Given the description of an element on the screen output the (x, y) to click on. 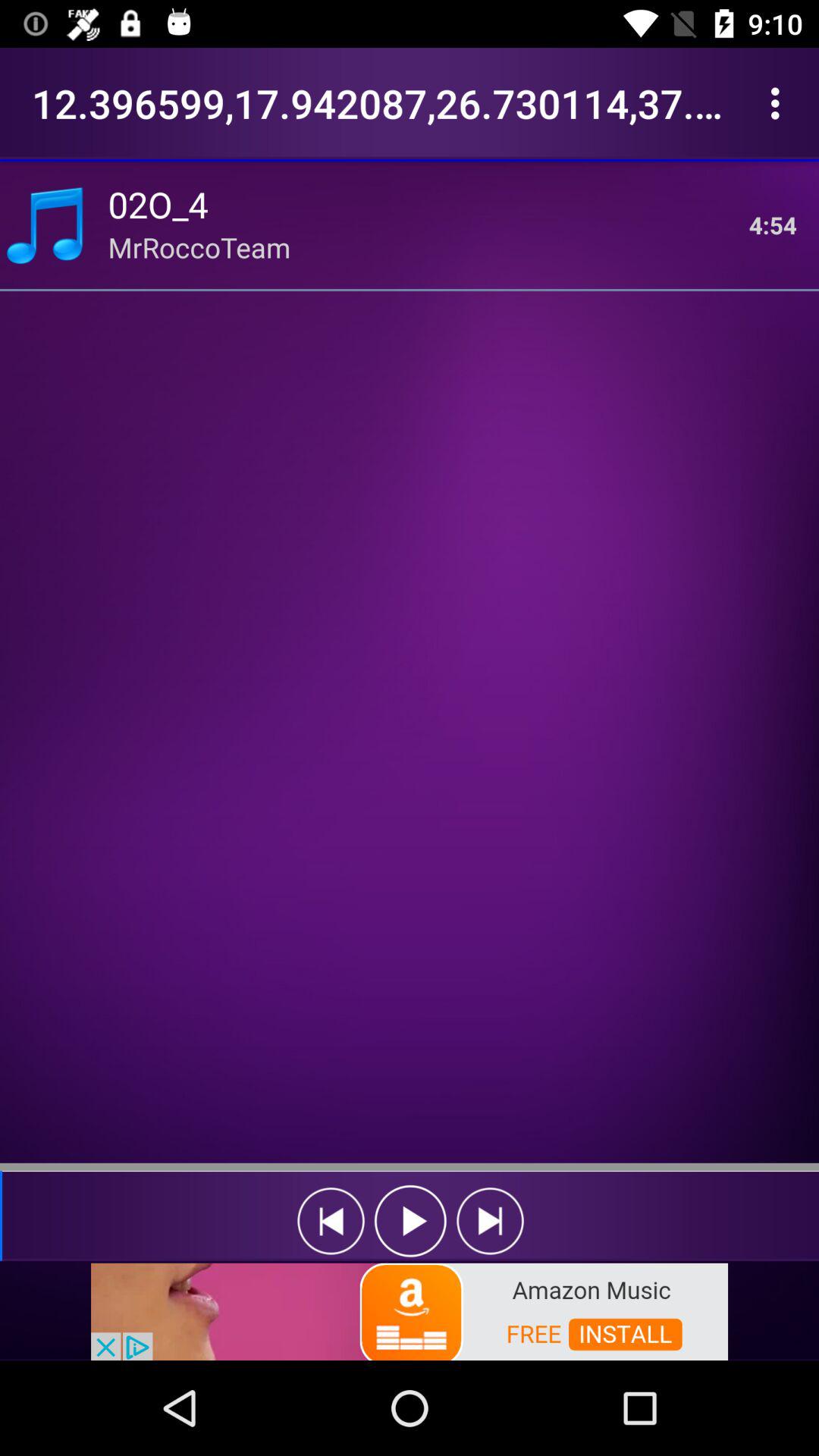
go to previous (410, 1220)
